Given the description of an element on the screen output the (x, y) to click on. 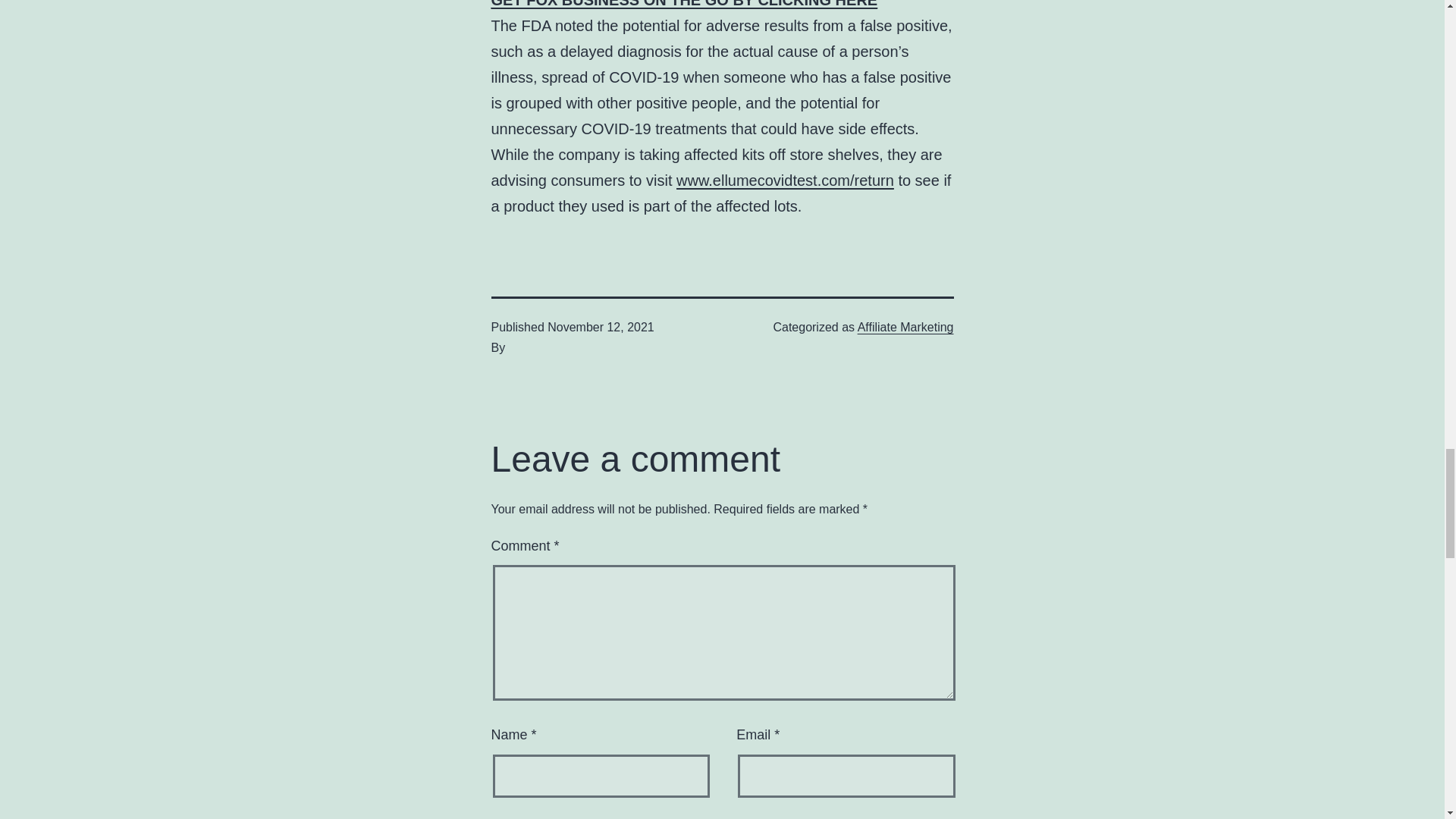
Affiliate Marketing (905, 327)
GET FOX BUSINESS ON THE GO BY CLICKING HERE (684, 4)
